Given the description of an element on the screen output the (x, y) to click on. 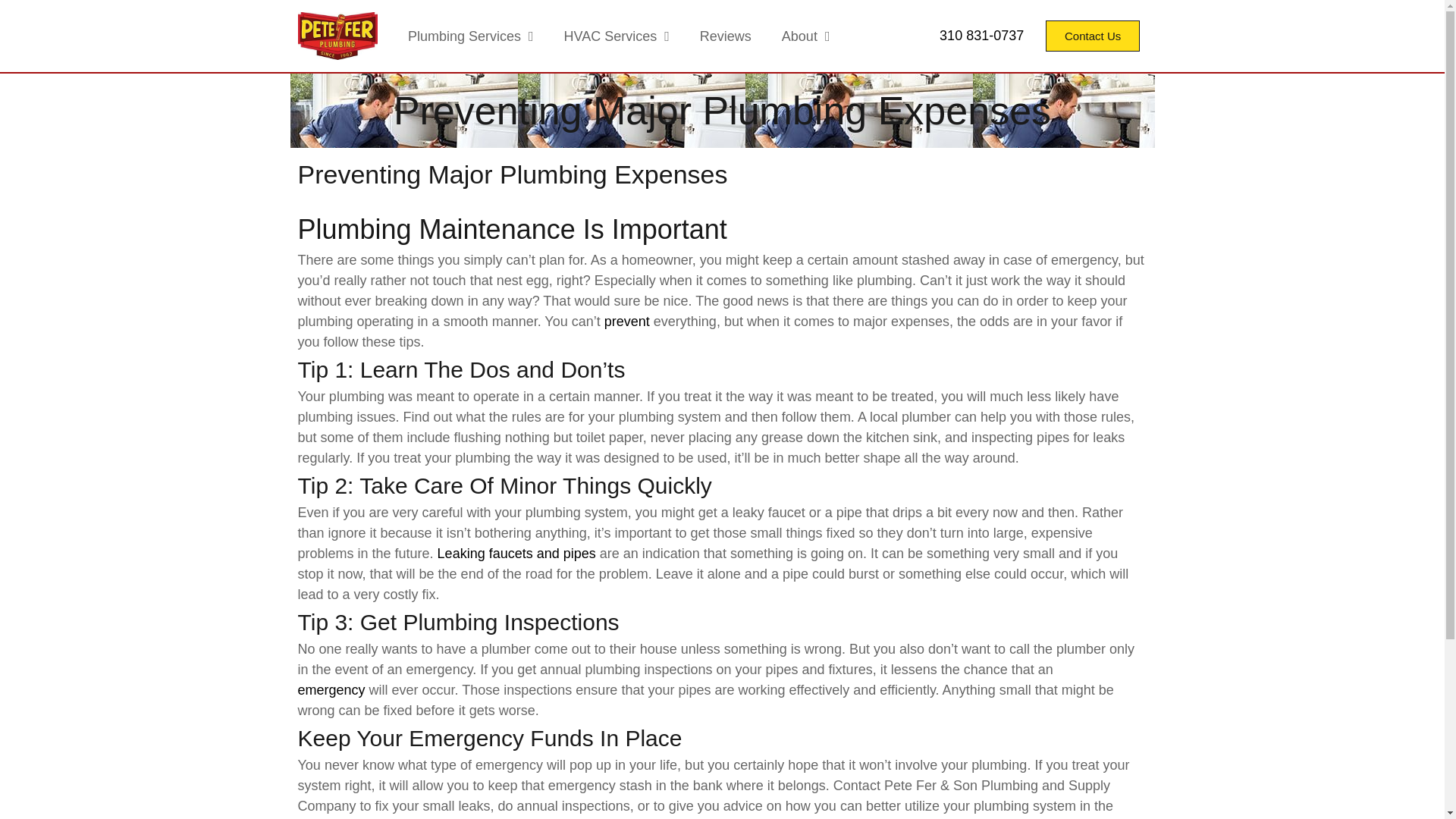
Reviews (725, 35)
Plumbing Services (470, 35)
About (806, 35)
HVAC Services (616, 35)
